Given the description of an element on the screen output the (x, y) to click on. 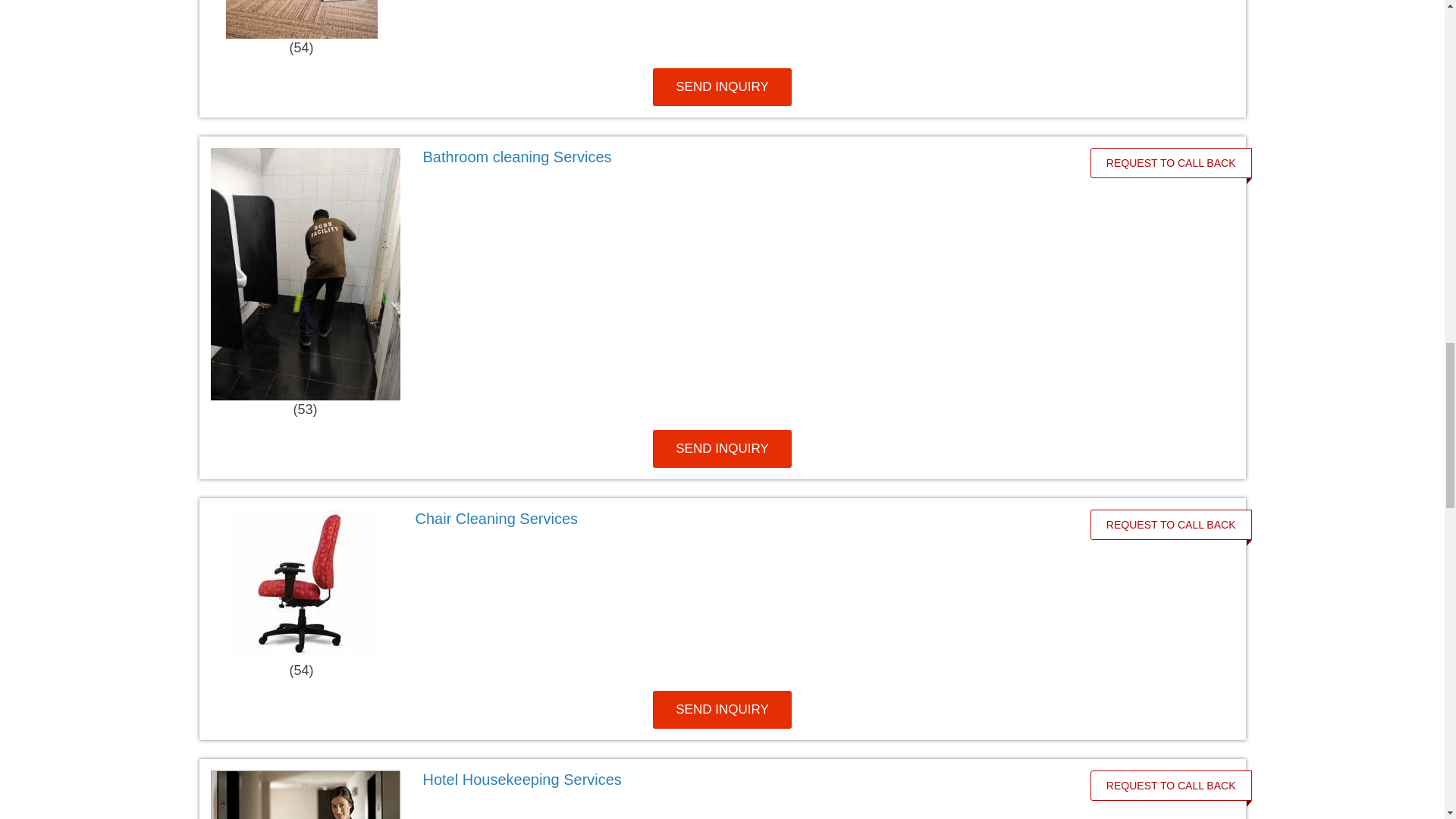
Chair Cleaning Services (742, 518)
REQUEST TO CALL BACK (1170, 162)
SEND INQUIRY (722, 448)
REQUEST TO CALL BACK (1170, 524)
SEND INQUIRY (722, 86)
Bathroom cleaning Services (517, 156)
Hotel Housekeeping Services (747, 779)
Chair Cleaning Services (496, 518)
Bathroom cleaning Services (747, 157)
SEND INQUIRY (722, 709)
